Given the description of an element on the screen output the (x, y) to click on. 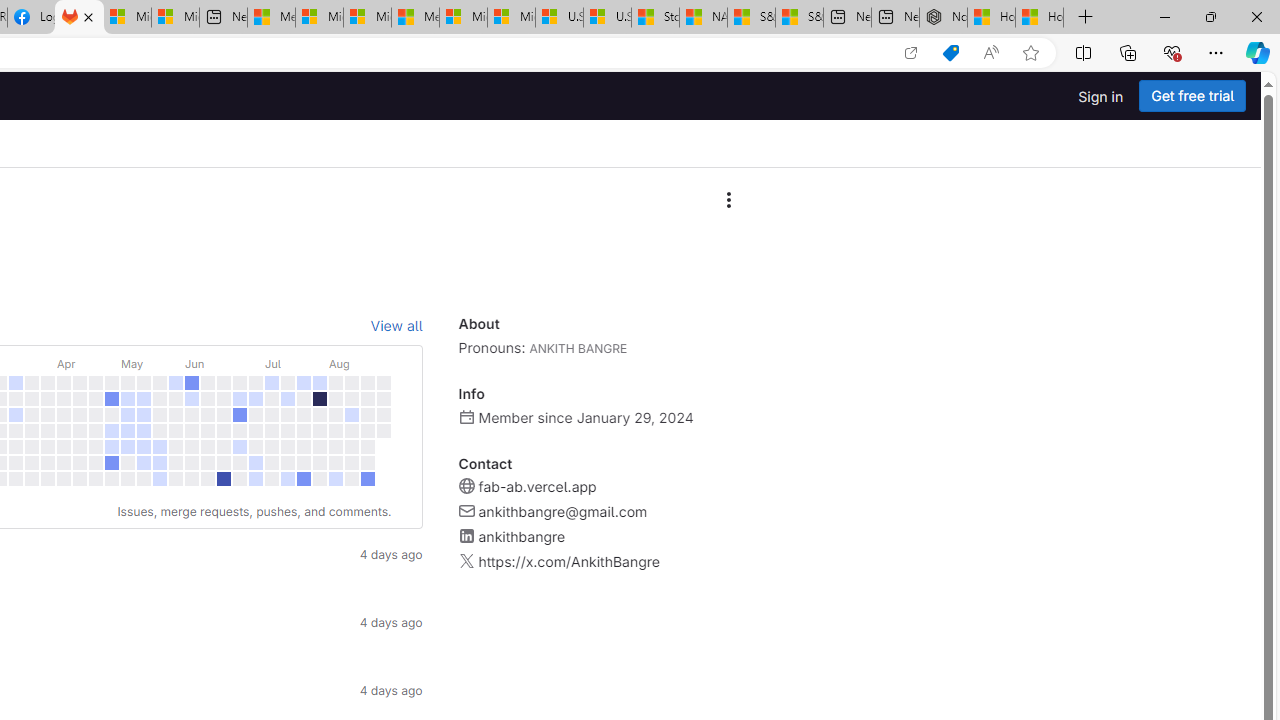
Sign in (1100, 95)
